Given the description of an element on the screen output the (x, y) to click on. 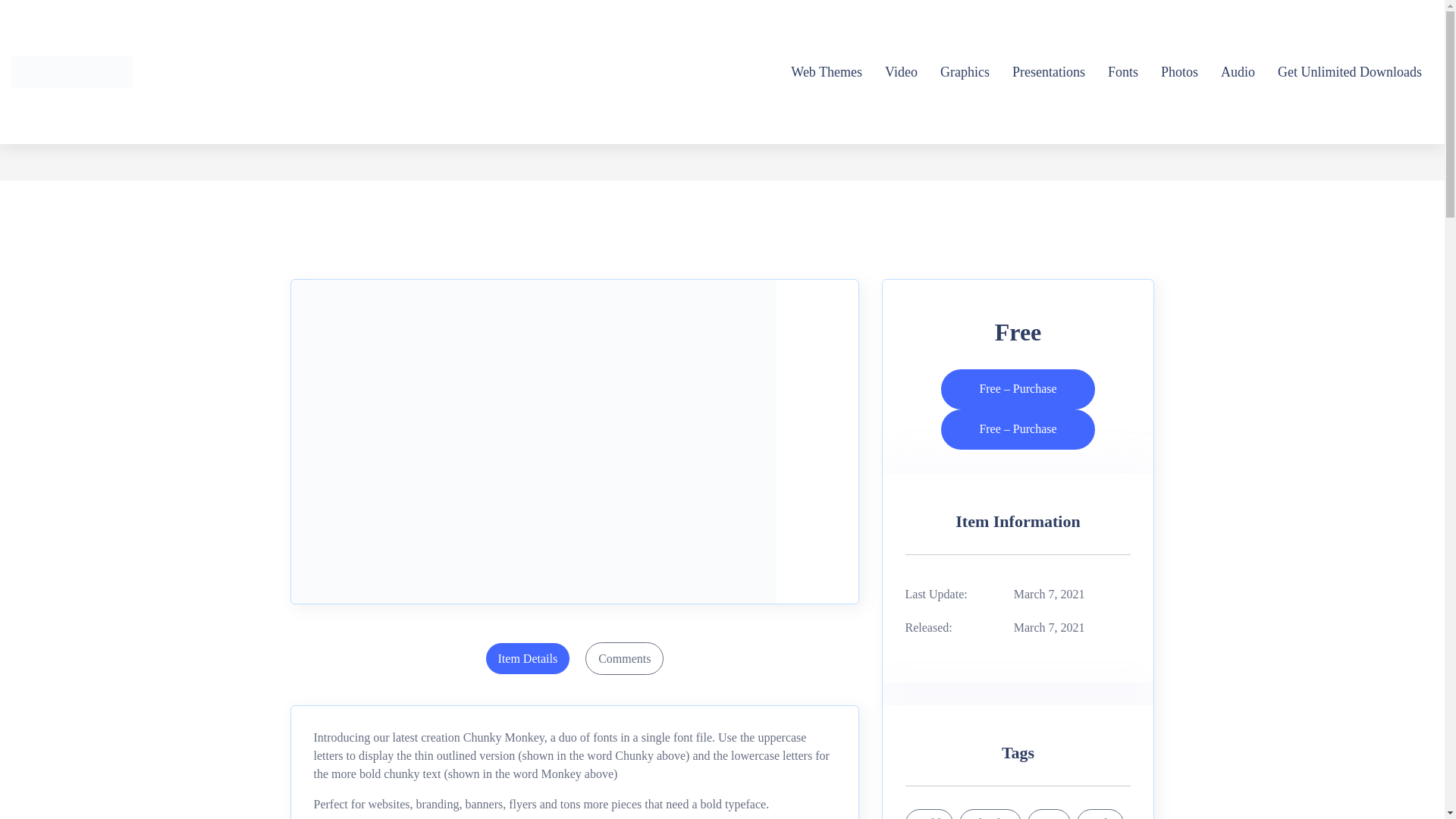
Get Unlimited Downloads (1350, 71)
Graphics (965, 71)
Video (901, 71)
Web Themes (825, 71)
Audio (1238, 71)
Fonts (1123, 71)
Photos (1179, 71)
Presentations (1047, 71)
